Given the description of an element on the screen output the (x, y) to click on. 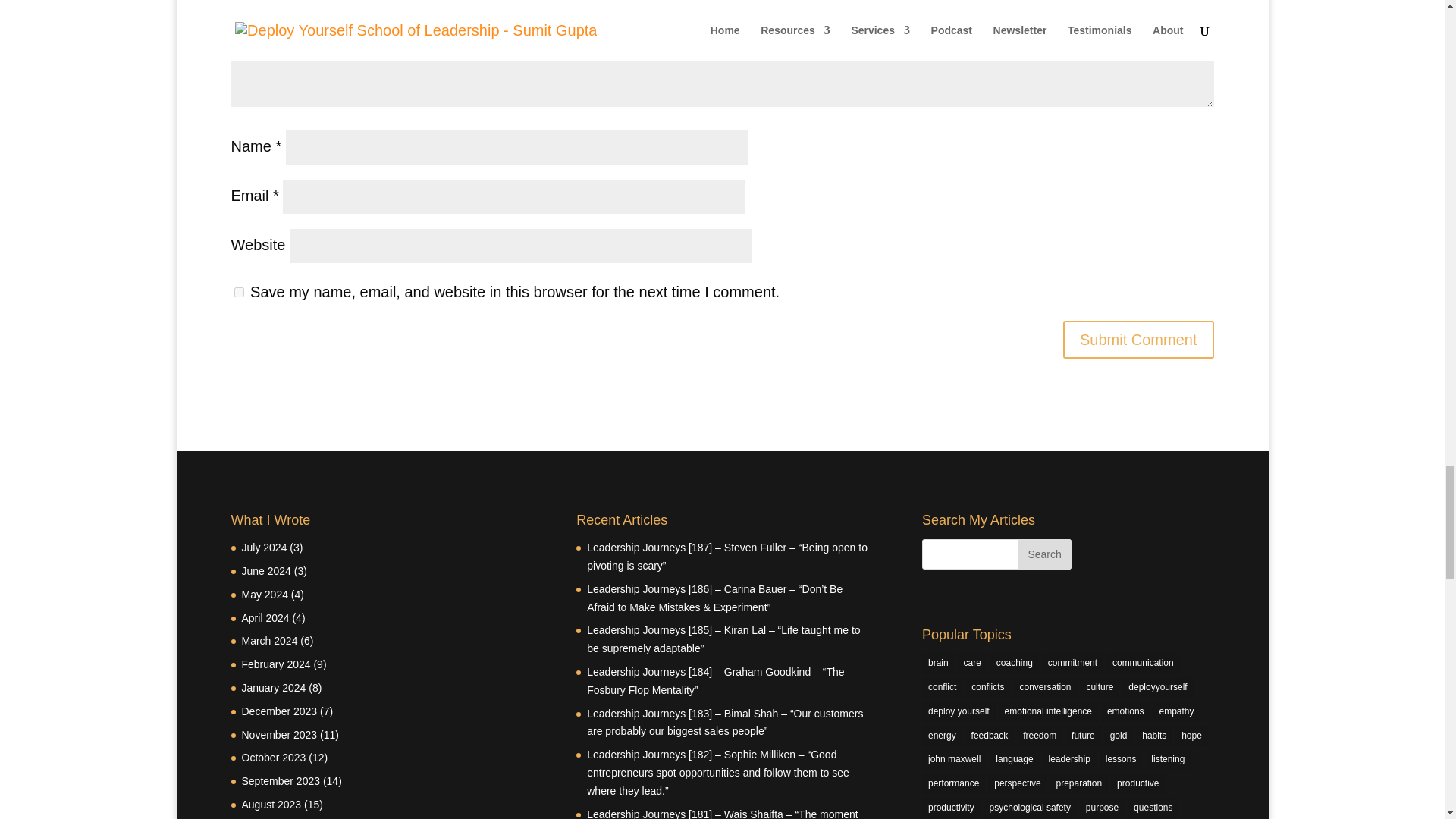
November 2023 (279, 734)
October 2023 (273, 757)
yes (237, 292)
December 2023 (279, 711)
September 2023 (280, 780)
Submit Comment (1138, 339)
June 2024 (265, 571)
May 2024 (263, 594)
March 2024 (269, 640)
August 2023 (271, 804)
Submit Comment (1138, 339)
July 2024 (263, 547)
January 2024 (273, 687)
February 2024 (275, 664)
Search (1044, 553)
